Given the description of an element on the screen output the (x, y) to click on. 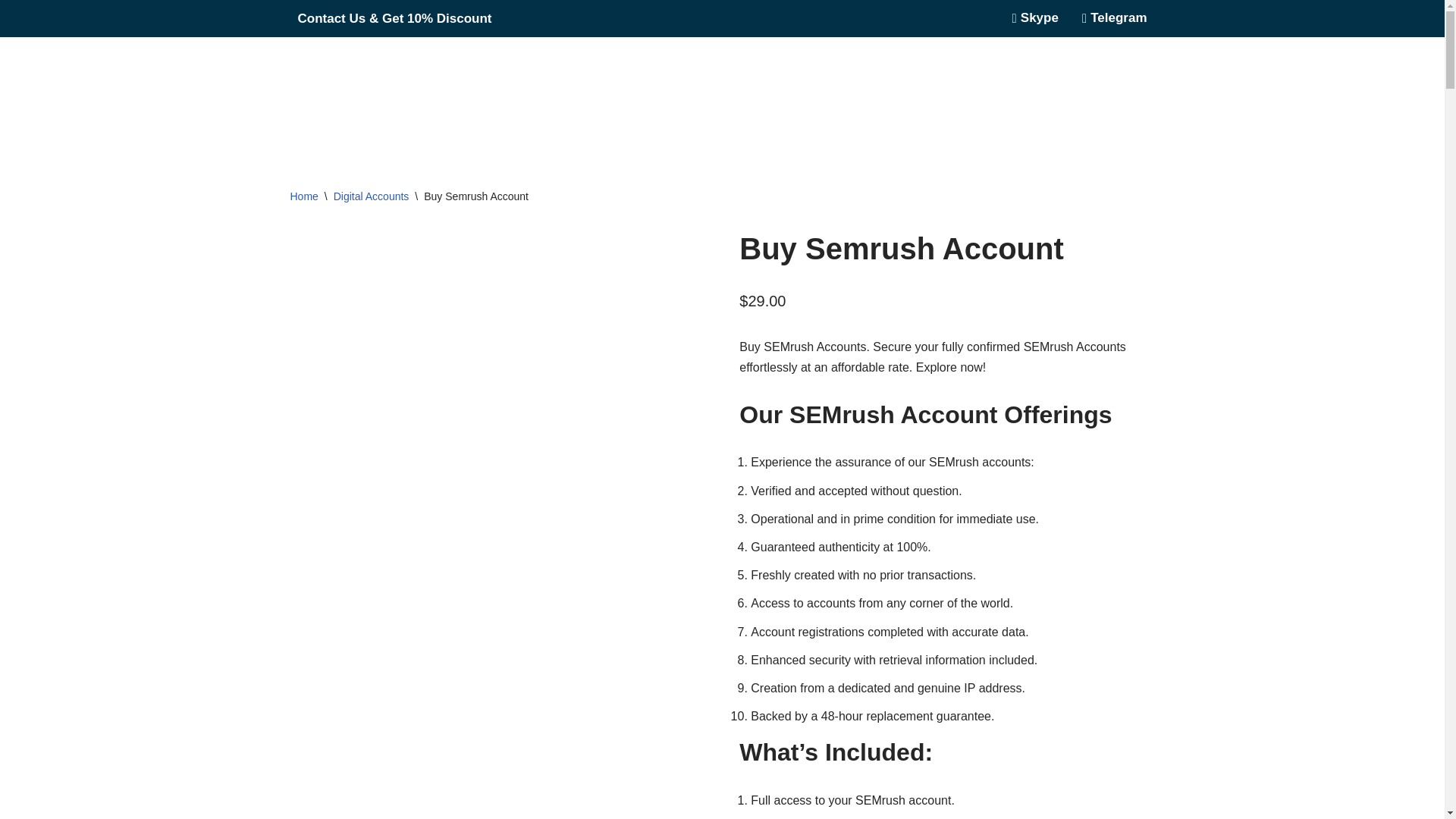
Skype (1029, 18)
Home (303, 196)
Telegram (1108, 18)
Digital Accounts (371, 196)
Skip to content (11, 31)
